Given the description of an element on the screen output the (x, y) to click on. 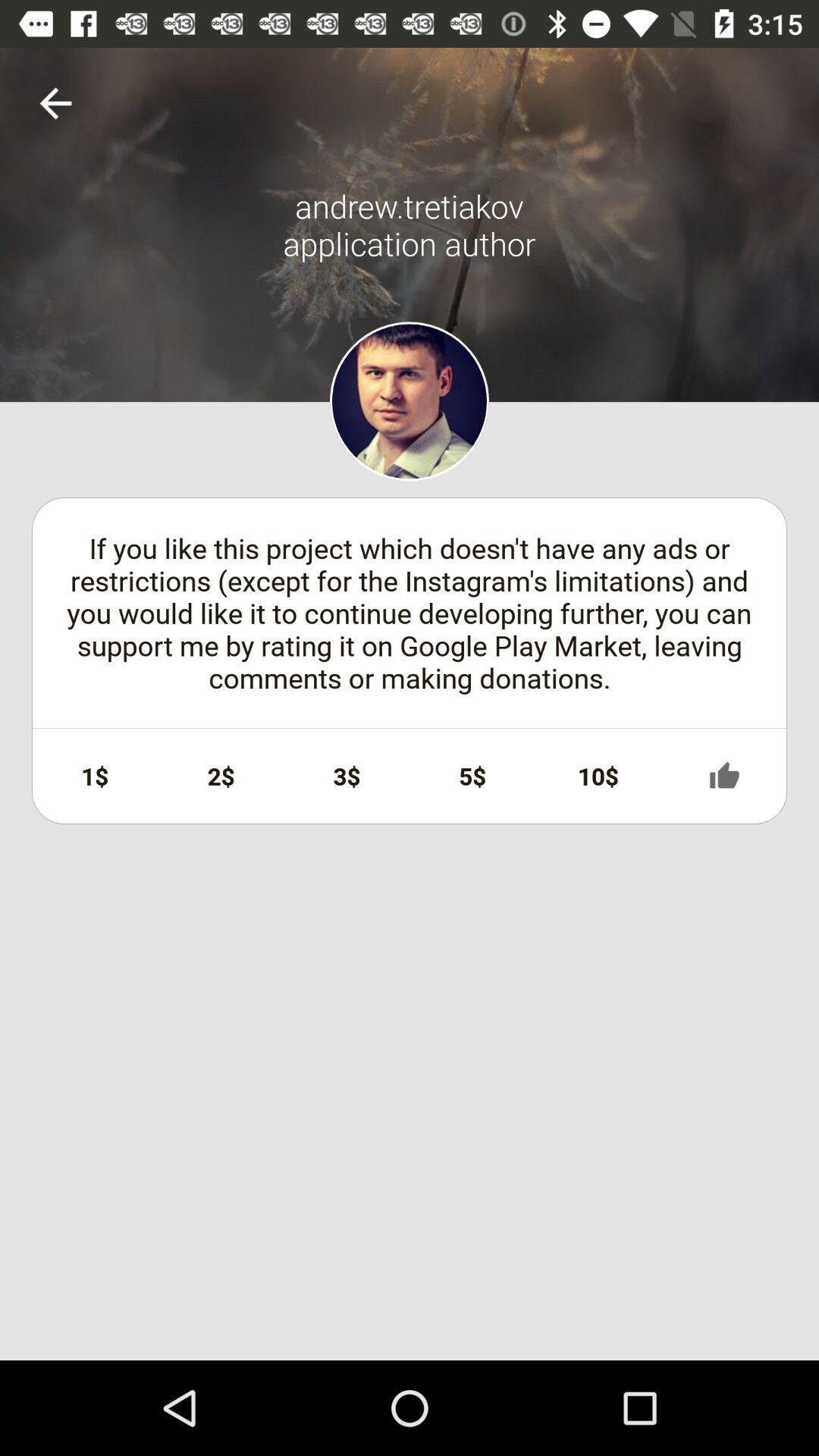
view profile picture (409, 401)
